Given the description of an element on the screen output the (x, y) to click on. 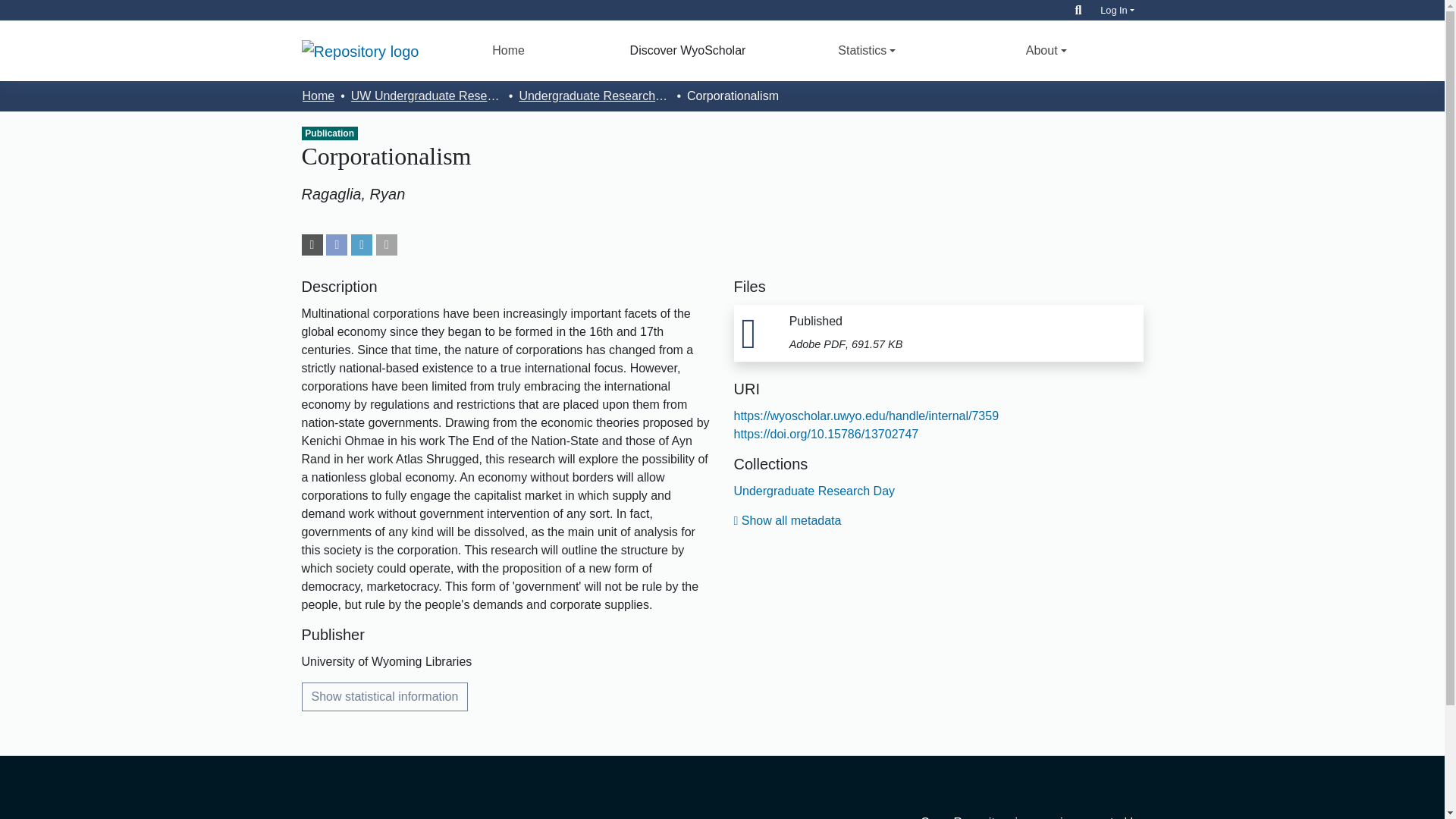
Home (507, 50)
Statistics (866, 50)
Log In (1117, 9)
Open Repository is a service operated by (1009, 817)
Home (507, 50)
Show all metadata (787, 520)
About (1045, 50)
UW Undergraduate Research (426, 95)
Search (1078, 10)
Undergraduate Research Day (593, 95)
